Given the description of an element on the screen output the (x, y) to click on. 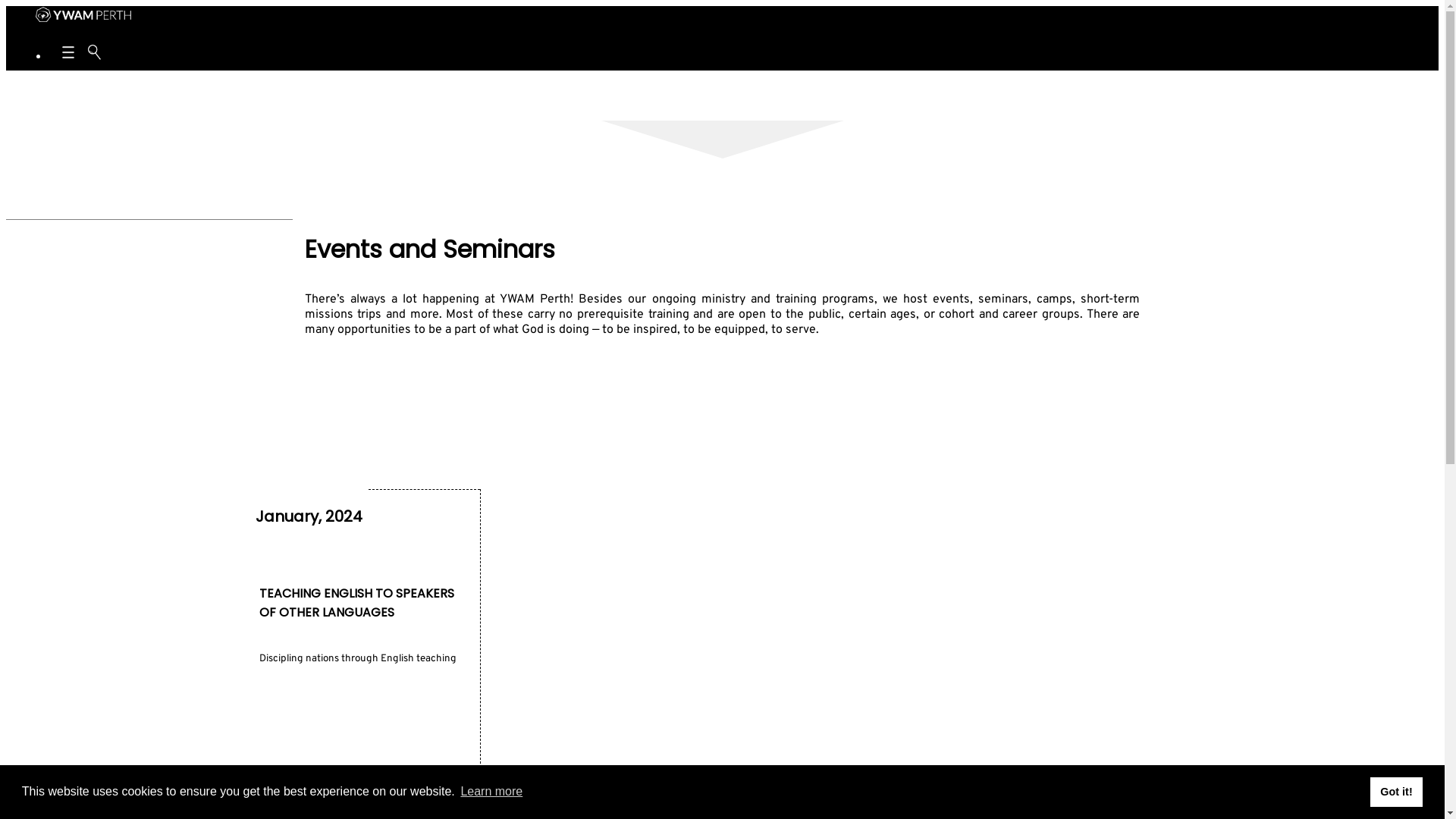
Learn more Element type: text (491, 791)
TEACHING ENGLISH TO SPEAKERS OF OTHER LANGUAGES Element type: text (358, 602)
Got it! Element type: text (1396, 791)
Apply Element type: text (88, 83)
